Given the description of an element on the screen output the (x, y) to click on. 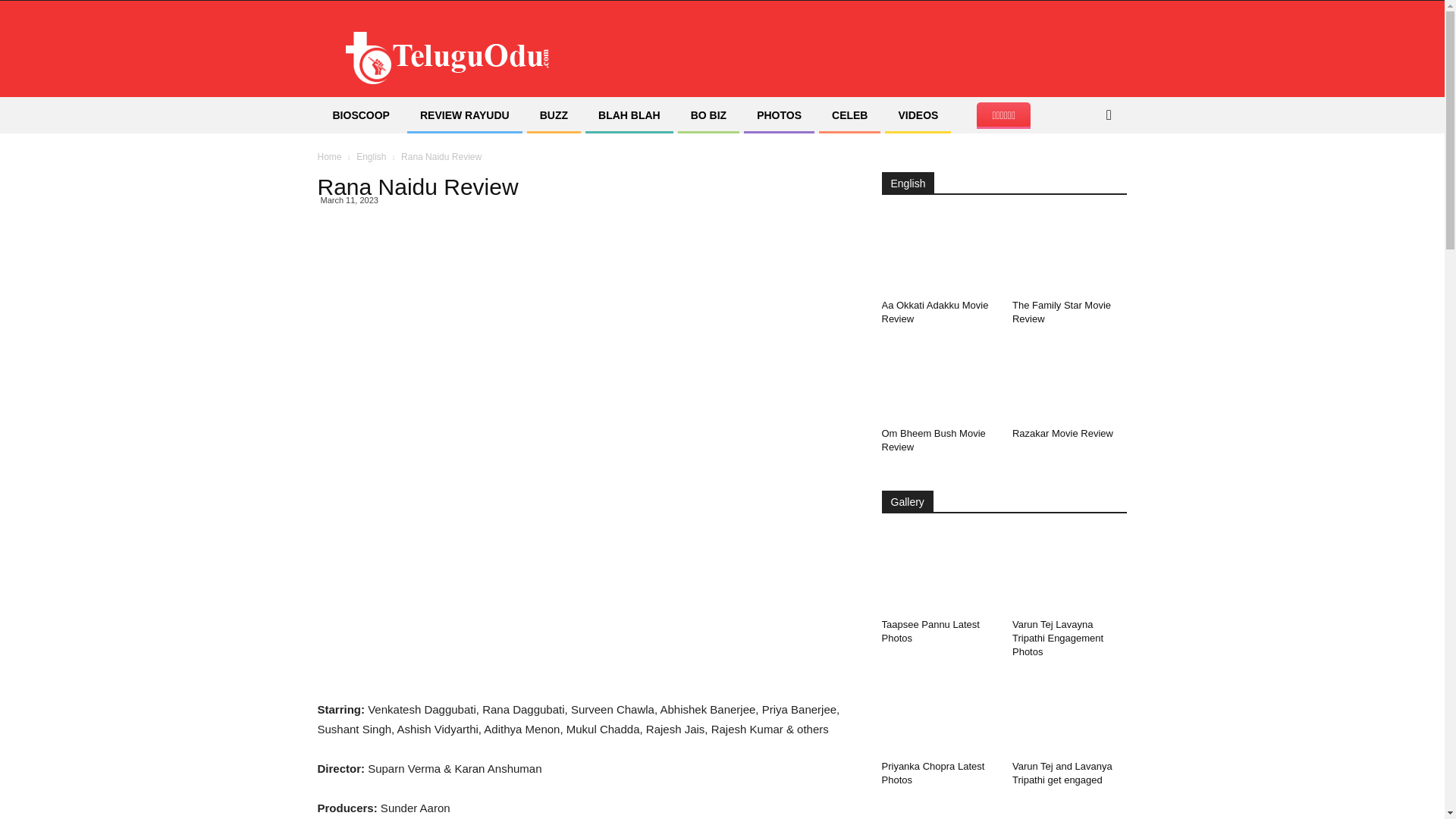
Search (1085, 175)
CELEB (849, 115)
View all posts in English (370, 156)
BUZZ (553, 115)
BO BIZ (708, 115)
Home (328, 156)
REVIEW RAYUDU (464, 115)
VIDEOS (917, 115)
BLAH BLAH (628, 115)
BIOSCOOP (361, 115)
PHOTOS (778, 115)
English (370, 156)
